Given the description of an element on the screen output the (x, y) to click on. 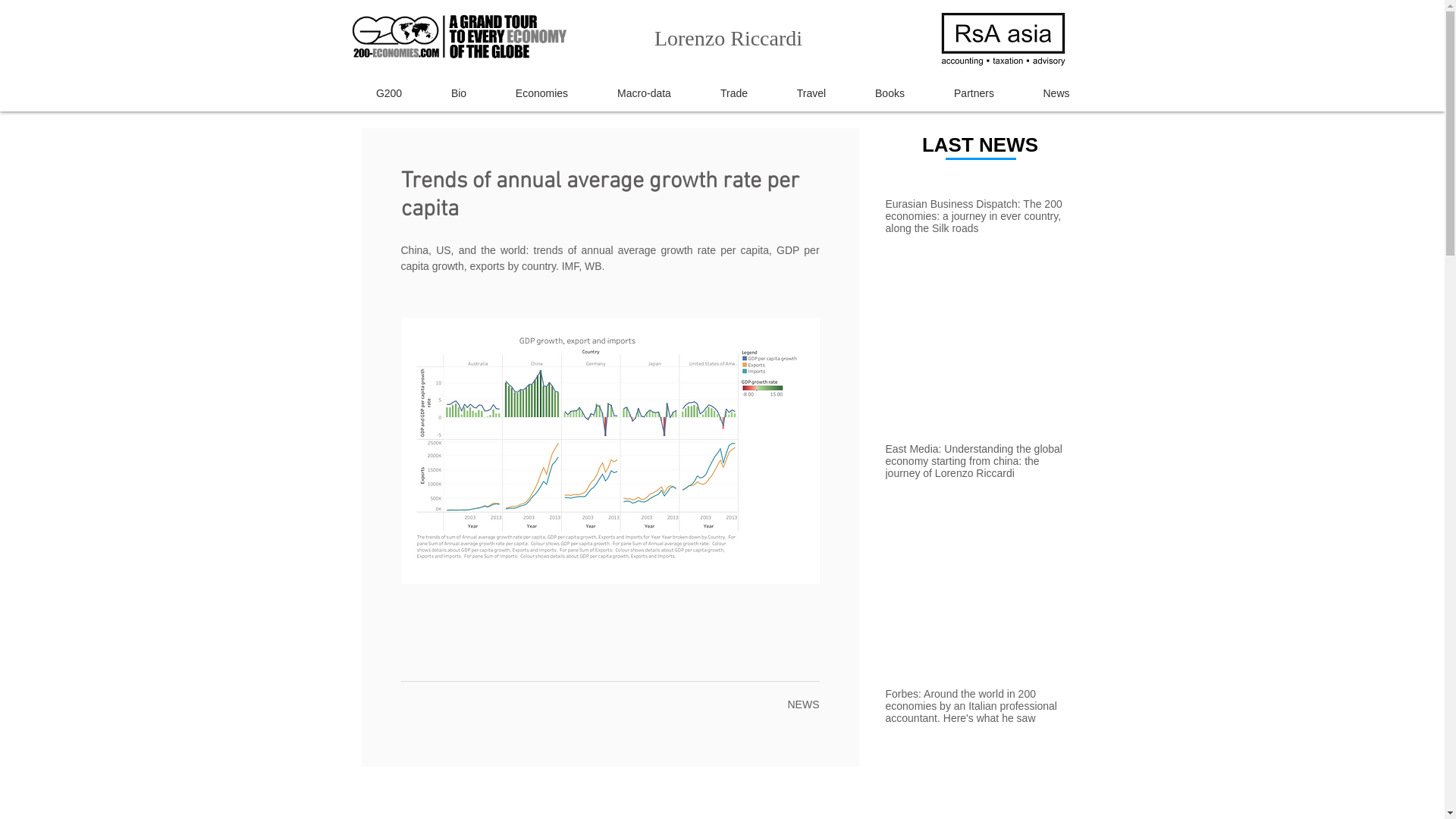
News Element type: text (1056, 93)
Books Element type: text (889, 93)
Trade Element type: text (734, 93)
Economies Element type: text (542, 93)
G200 Element type: text (388, 93)
NEWS Element type: text (803, 704)
Bio Element type: text (458, 93)
Macro-data Element type: text (644, 93)
Partners Element type: text (974, 93)
Travel Element type: text (810, 93)
Lorenzo Riccardi Element type: text (728, 40)
